Given the description of an element on the screen output the (x, y) to click on. 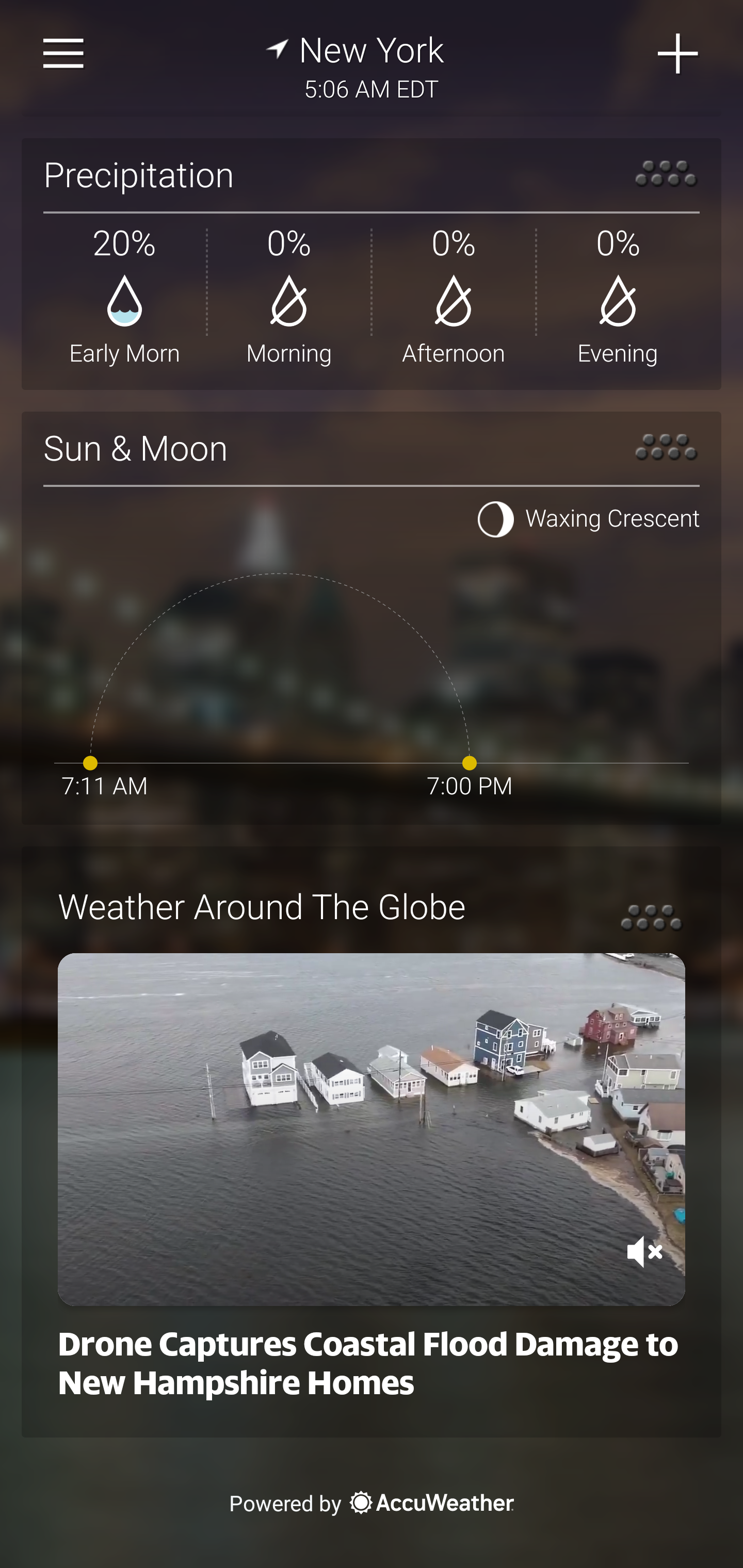
Sidebar (64, 54)
Add City (678, 53)
Unmute (645, 1252)
Powered by (371, 1502)
